Given the description of an element on the screen output the (x, y) to click on. 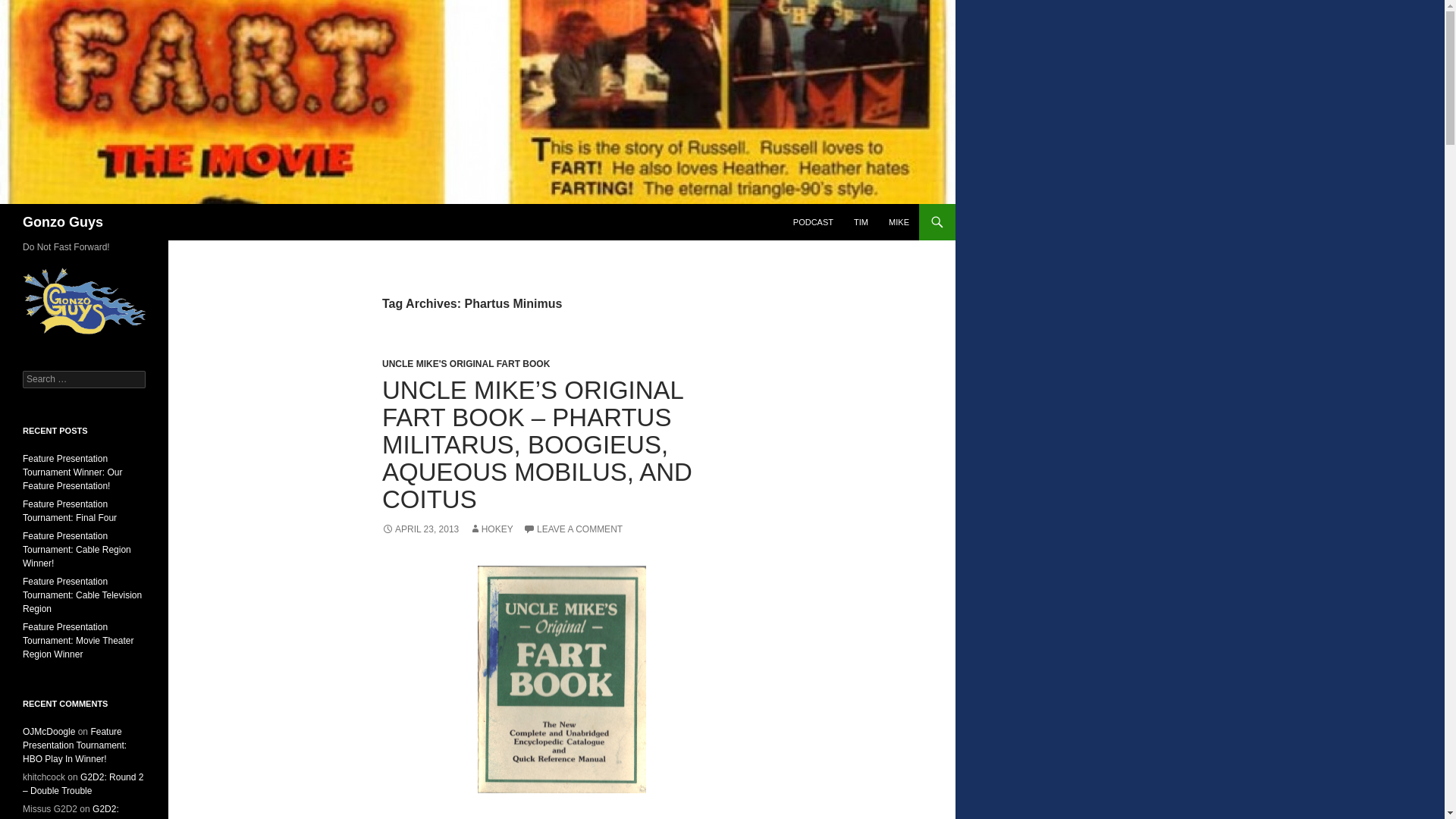
APRIL 23, 2013 (419, 529)
HOKEY (490, 529)
MIKE (898, 221)
UNCLE MIKE'S ORIGINAL FART BOOK (465, 363)
TIM (860, 221)
PODCAST (813, 221)
Gonzo Guys (63, 221)
LEAVE A COMMENT (572, 529)
